Given the description of an element on the screen output the (x, y) to click on. 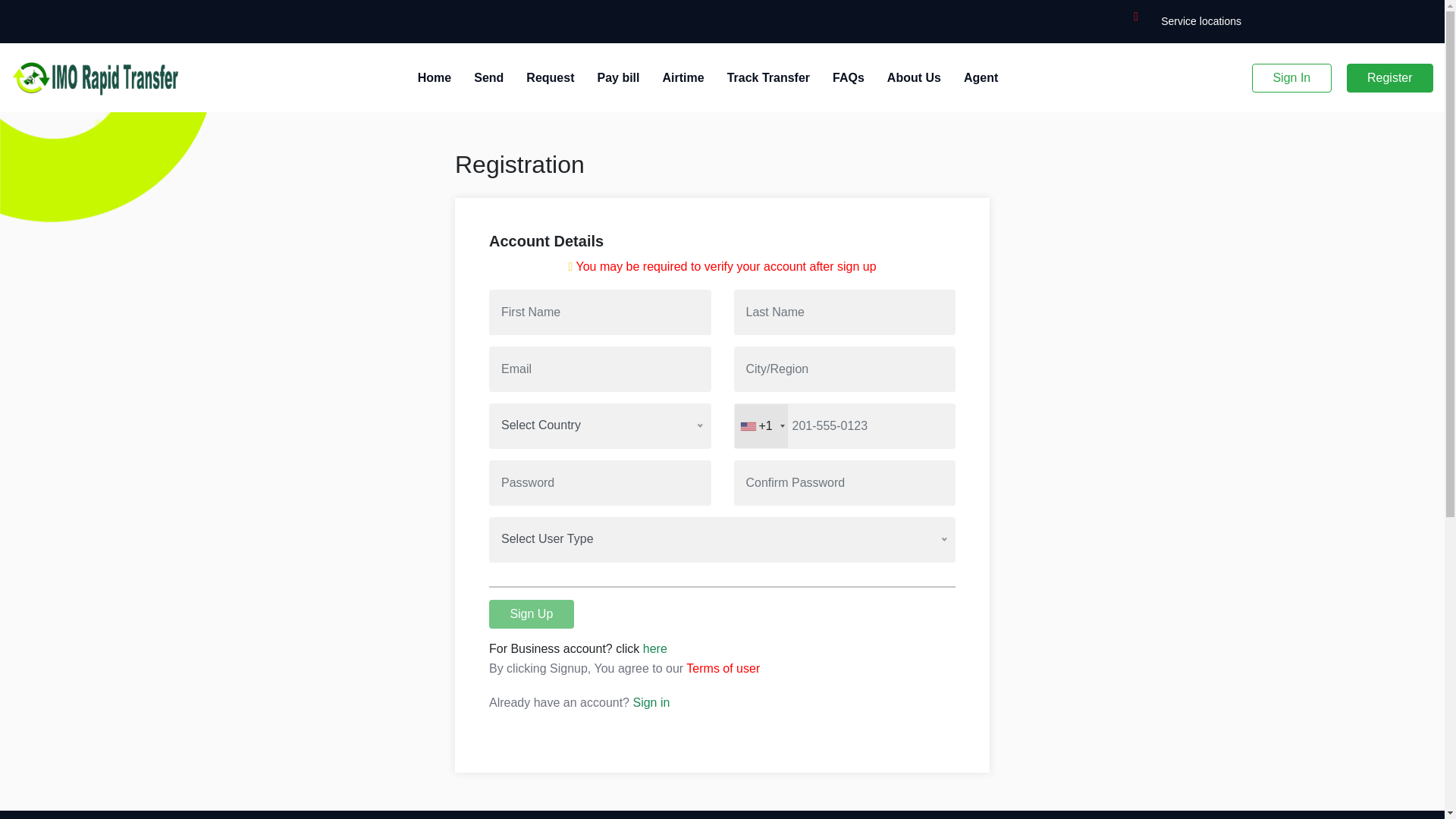
Pay bill (617, 78)
Agent (980, 78)
here (654, 648)
Home (434, 78)
Sign Up (531, 613)
Terms of user (722, 667)
Register (1389, 77)
FAQs (848, 78)
Sign In (1292, 77)
Track Transfer (767, 78)
